Given the description of an element on the screen output the (x, y) to click on. 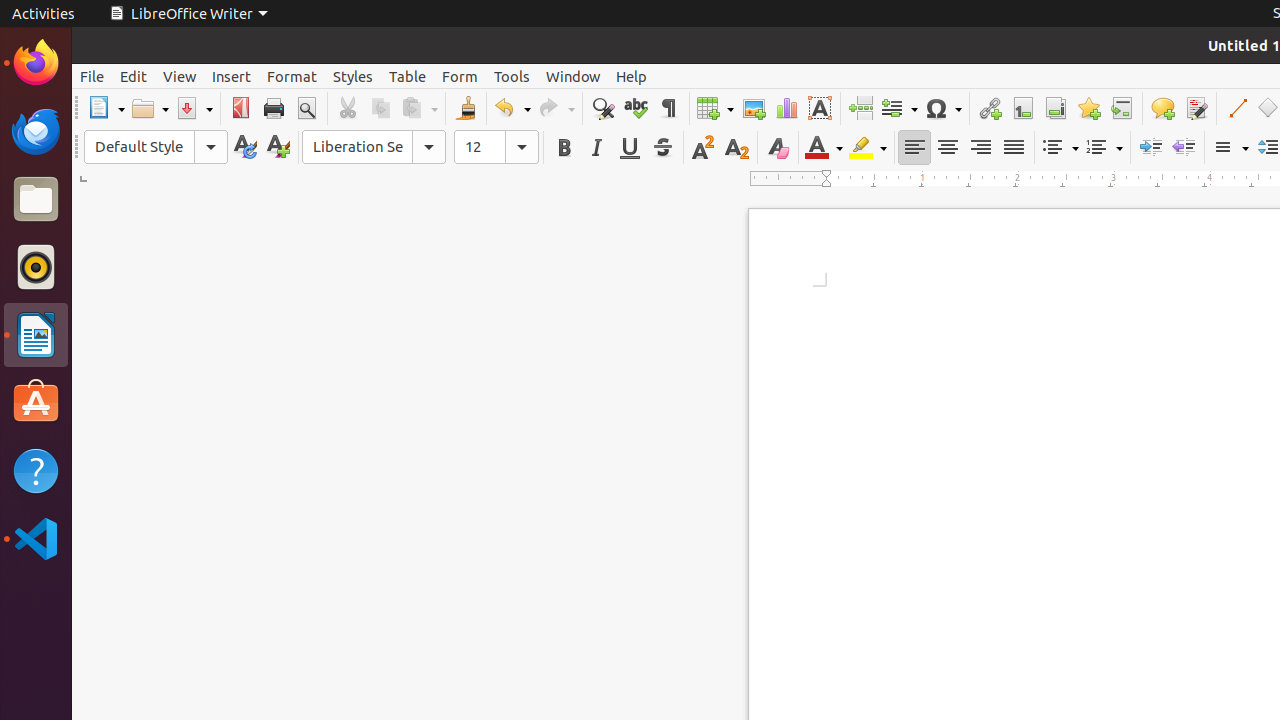
Ubuntu Software Element type: push-button (36, 402)
Cross-reference Element type: push-button (1121, 108)
Format Element type: menu (292, 76)
Find & Replace Element type: toggle-button (602, 108)
Image Element type: push-button (753, 108)
